Given the description of an element on the screen output the (x, y) to click on. 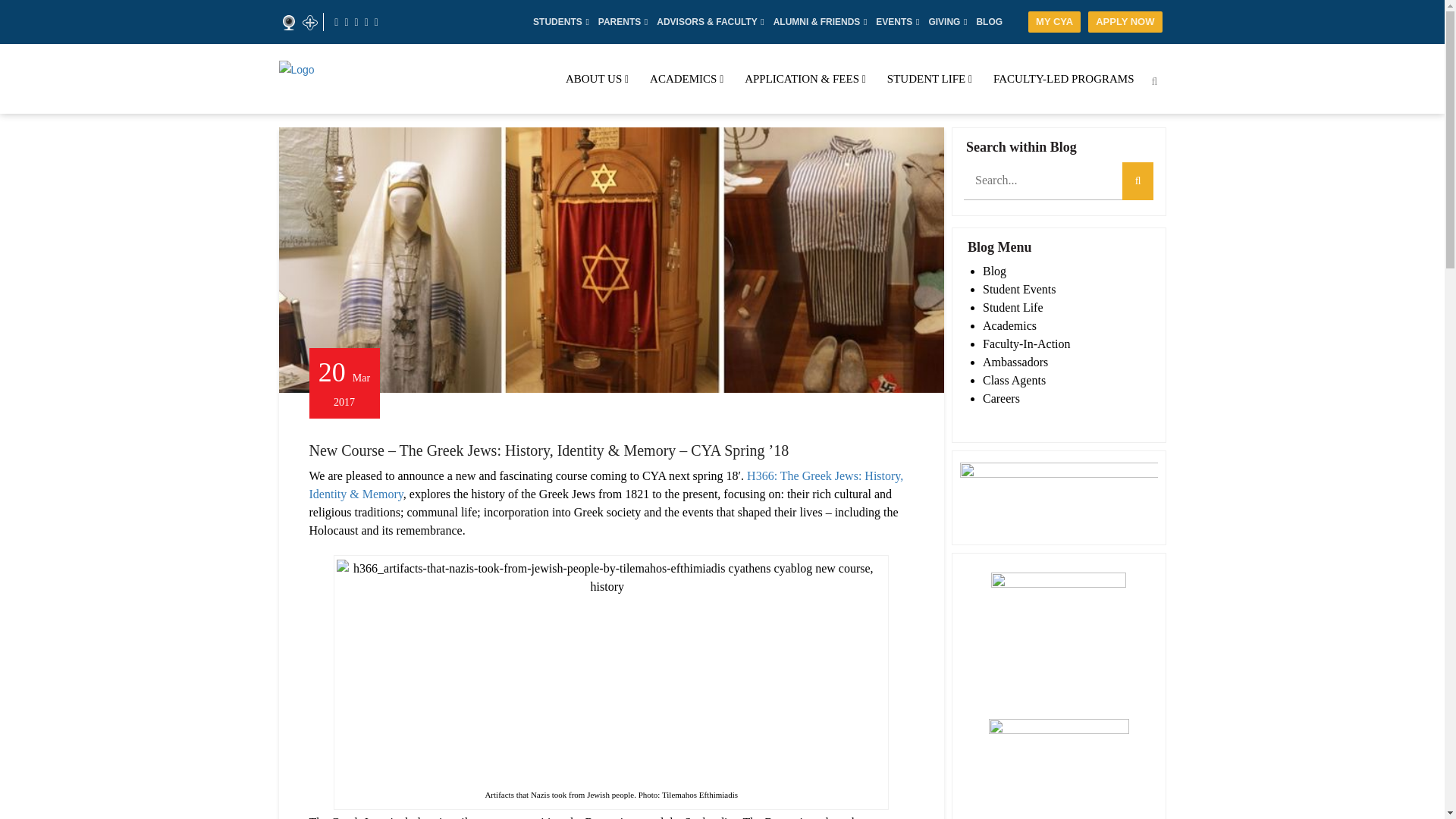
PARENTS (619, 22)
Logo (392, 69)
STUDENTS (557, 22)
